Given the description of an element on the screen output the (x, y) to click on. 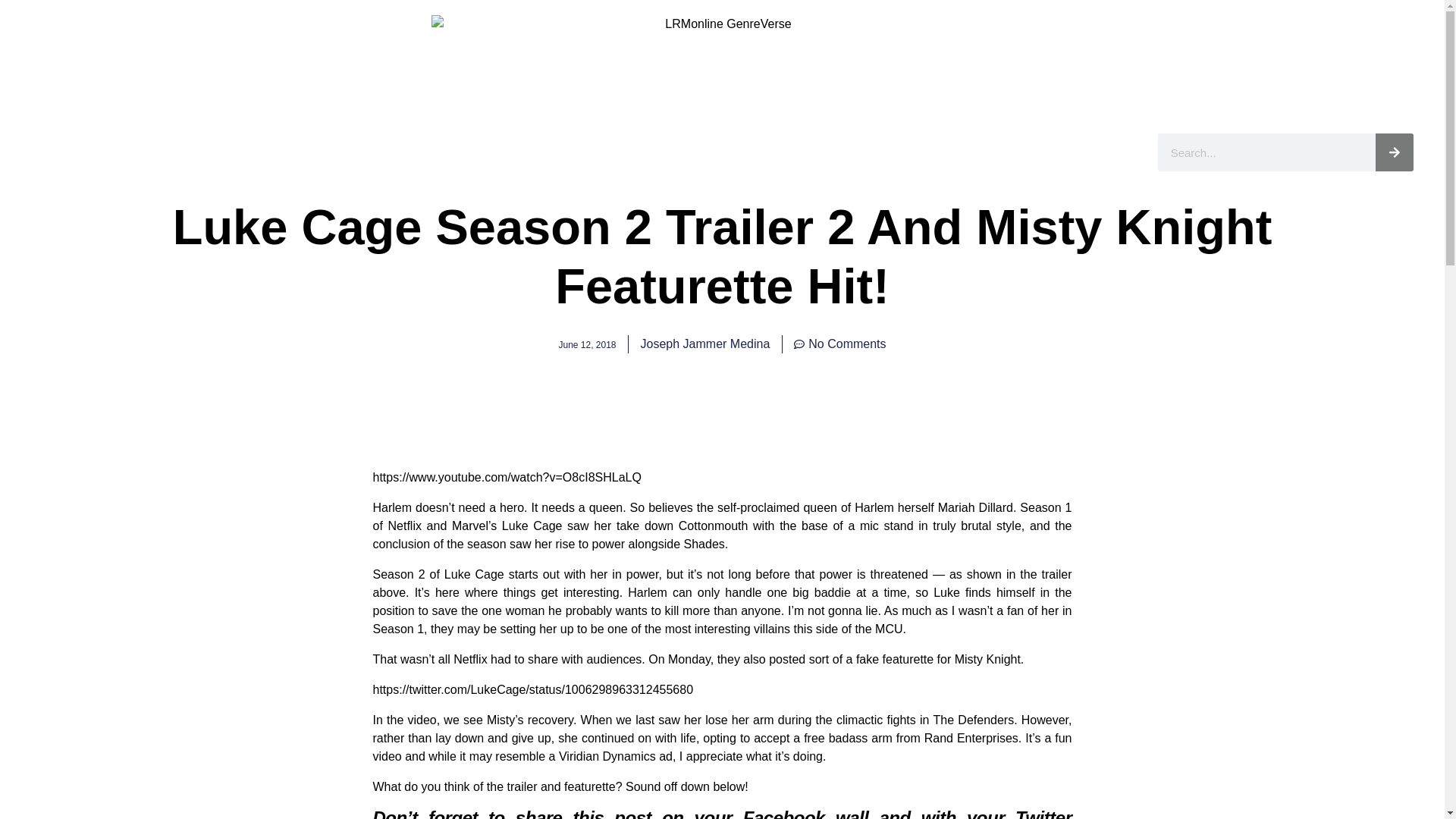
No Comments (839, 343)
Interviews (438, 150)
Trailers (793, 150)
Reviews (522, 150)
June 12, 2018 (586, 343)
Shop (860, 150)
GenreVerse (611, 150)
Joseph Jammer Medina (705, 343)
LRM Exclusives (331, 150)
